Given the description of an element on the screen output the (x, y) to click on. 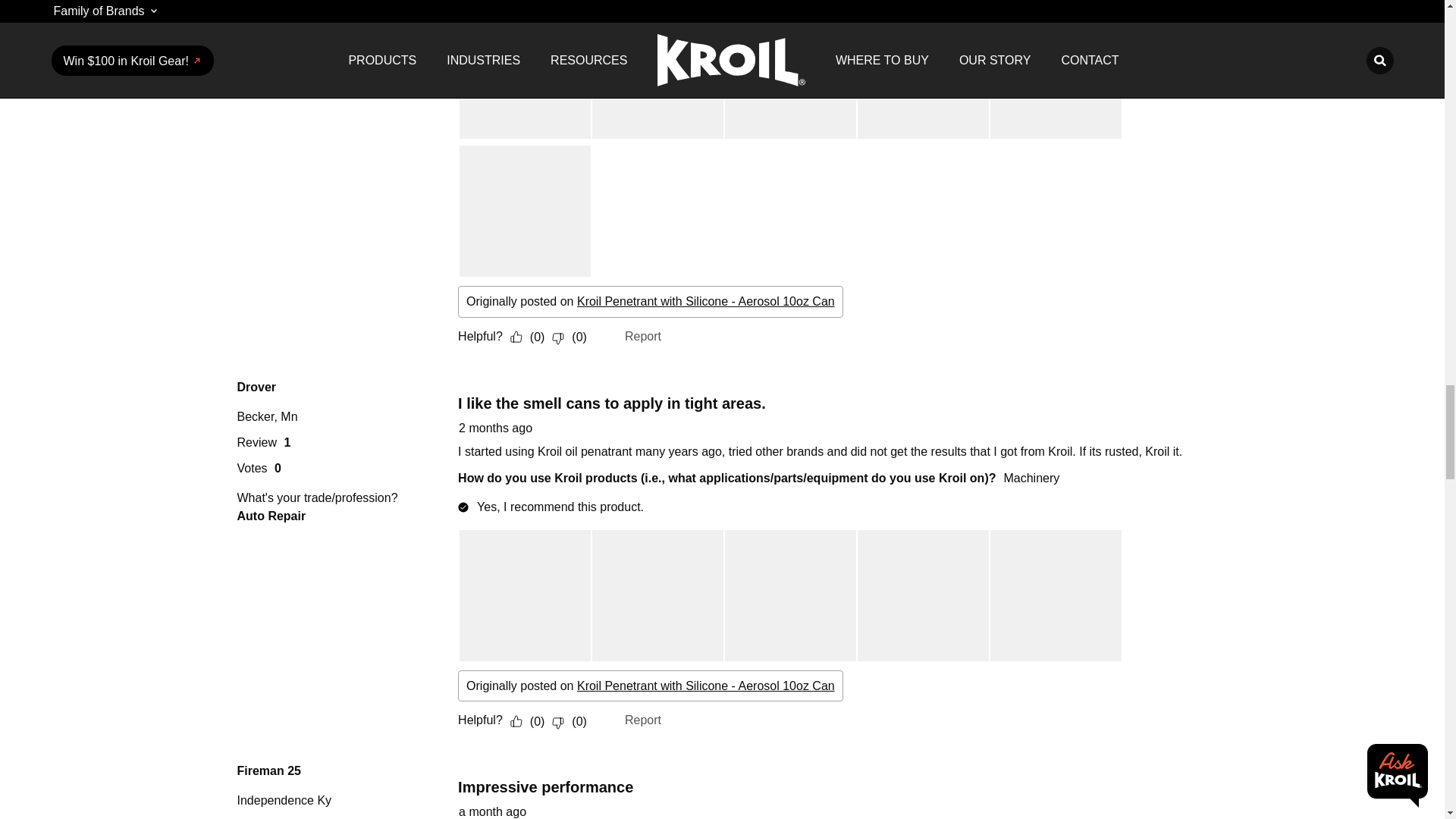
5 out of 5 stars. (486, 385)
5 out of 5 stars. (486, 770)
